Given the description of an element on the screen output the (x, y) to click on. 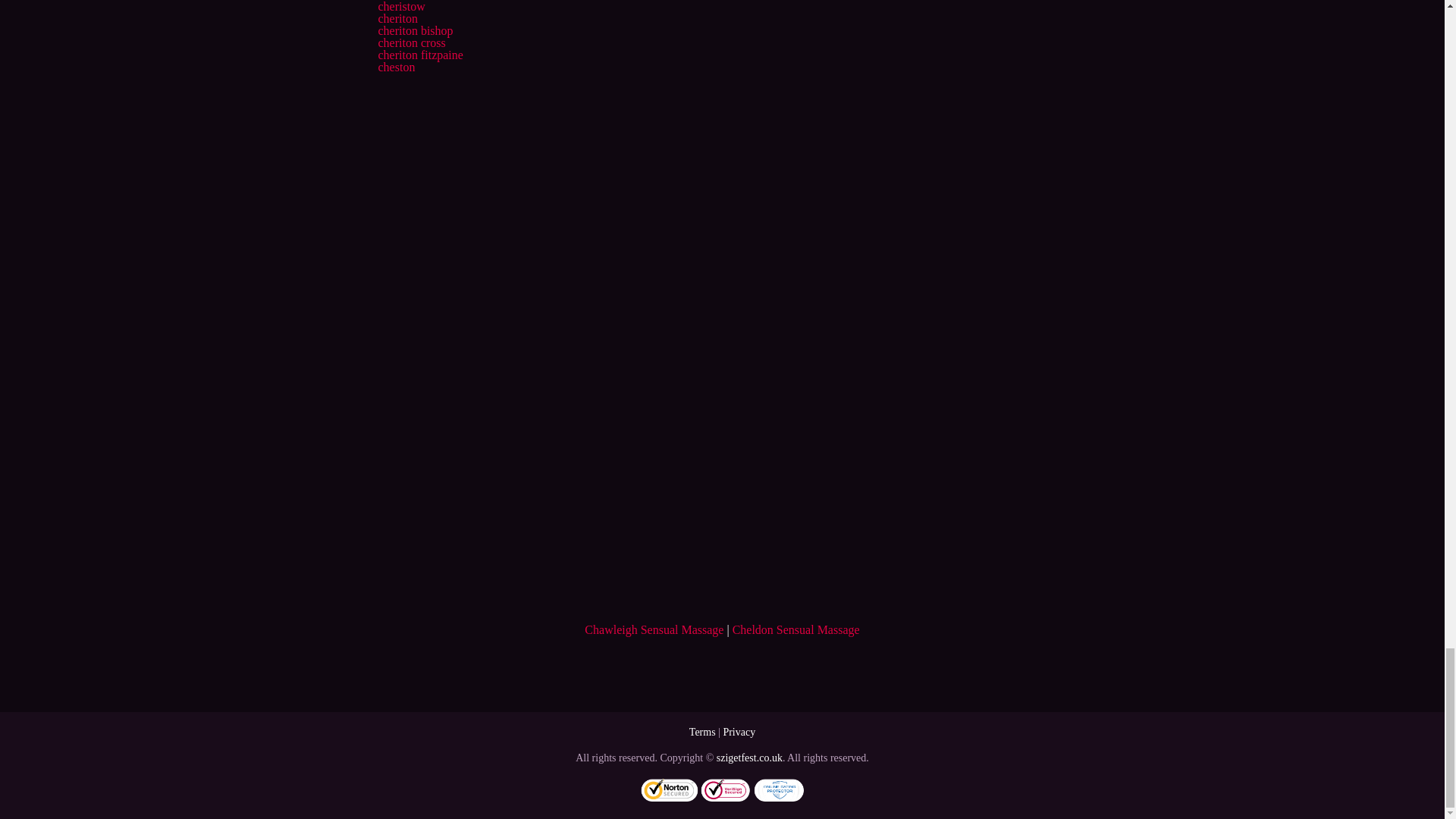
szigetfest.co.uk (749, 757)
Cheldon Sensual Massage (796, 629)
cheristow (401, 6)
Terms (702, 731)
cheriton cross (411, 42)
cheriton (396, 18)
Chawleigh Sensual Massage (654, 629)
cheston (395, 66)
cheriton fitzpaine (420, 54)
cheriton bishop (414, 30)
